Given the description of an element on the screen output the (x, y) to click on. 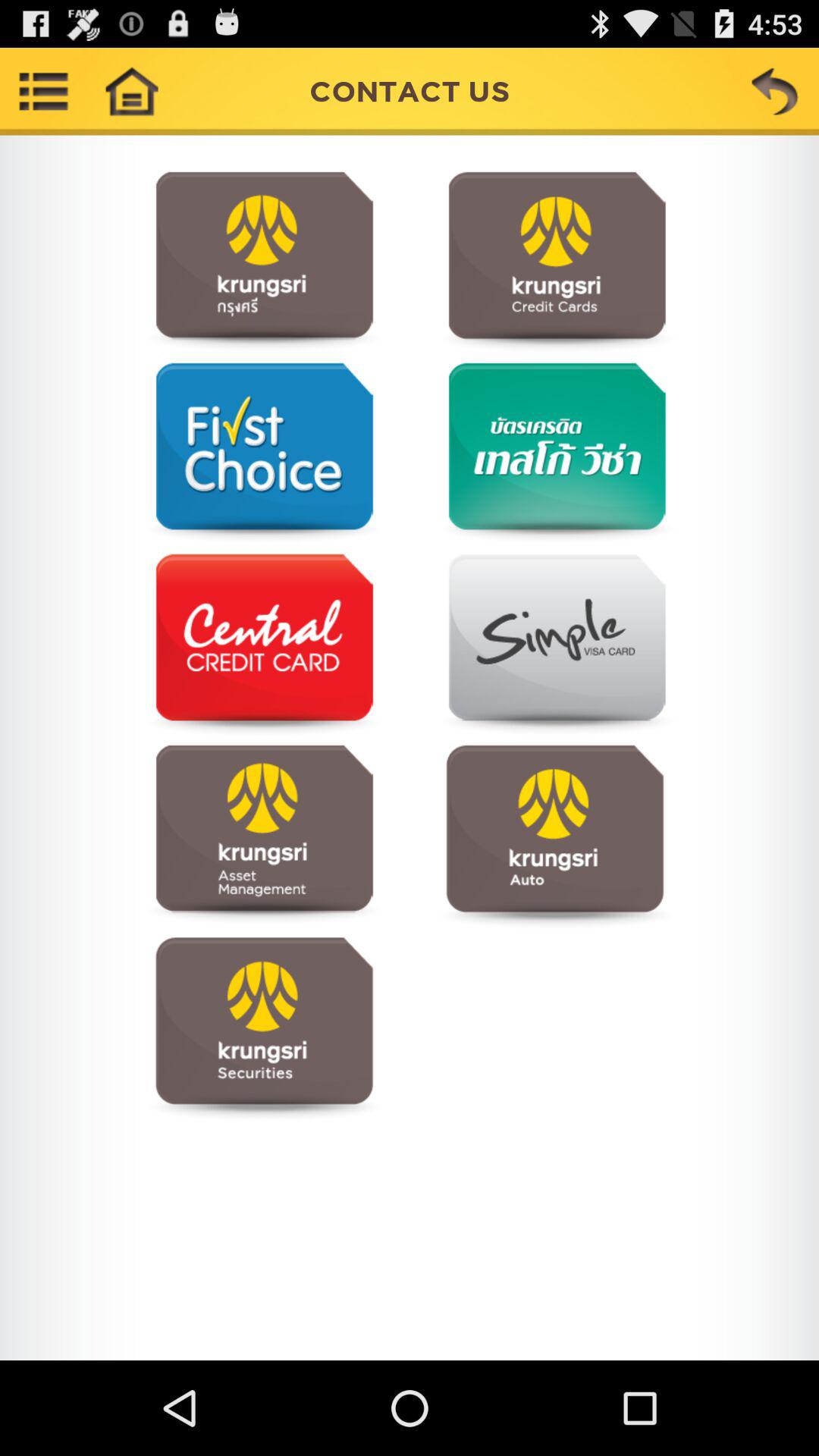
button for going back home (131, 91)
